Given the description of an element on the screen output the (x, y) to click on. 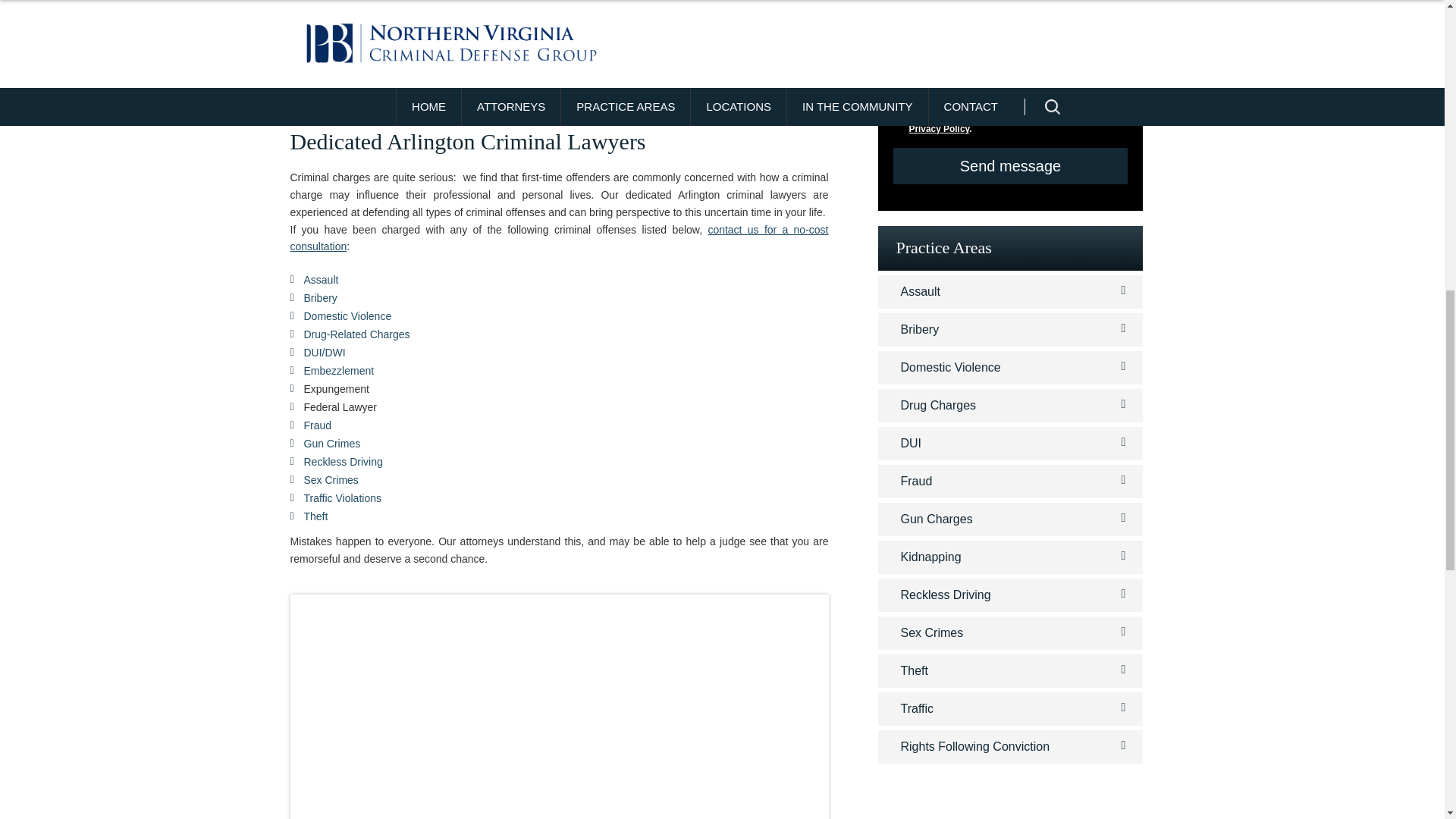
Send message (1010, 166)
Arlington Virginia theft lawyer (314, 516)
Arlington Virginia reckless driving lawyer (341, 461)
Arlington Virginia traffic ticket lawyer (341, 498)
Arlington Virginia sex crimes lawyer (330, 480)
Yes (897, 56)
Arlington Virginia assault lawyer (319, 279)
Arlington Virginia domestic violence lawyer (346, 316)
